Given the description of an element on the screen output the (x, y) to click on. 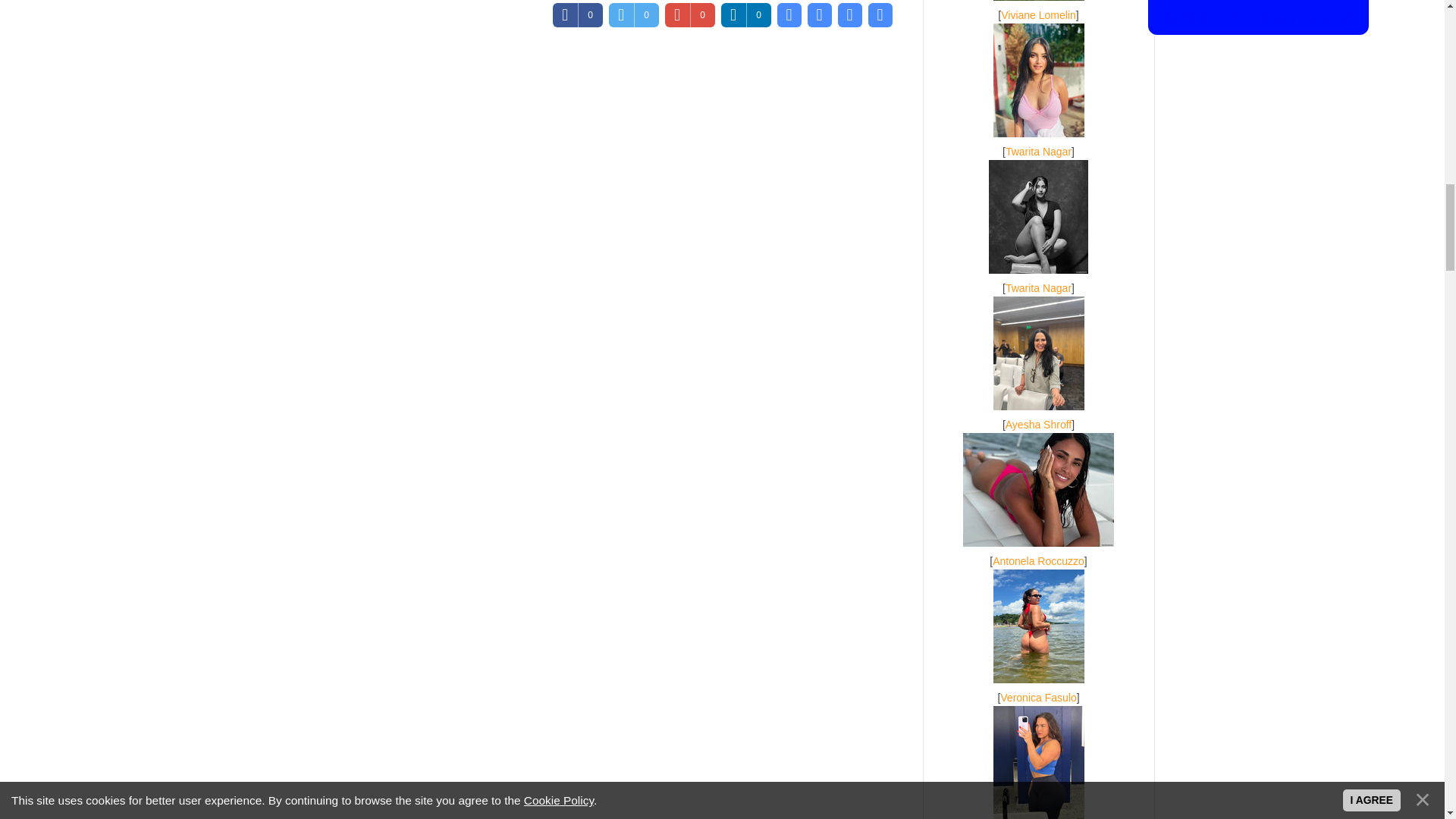
Antonela Roccuzzo Messi in bikini (1037, 490)
